Given the description of an element on the screen output the (x, y) to click on. 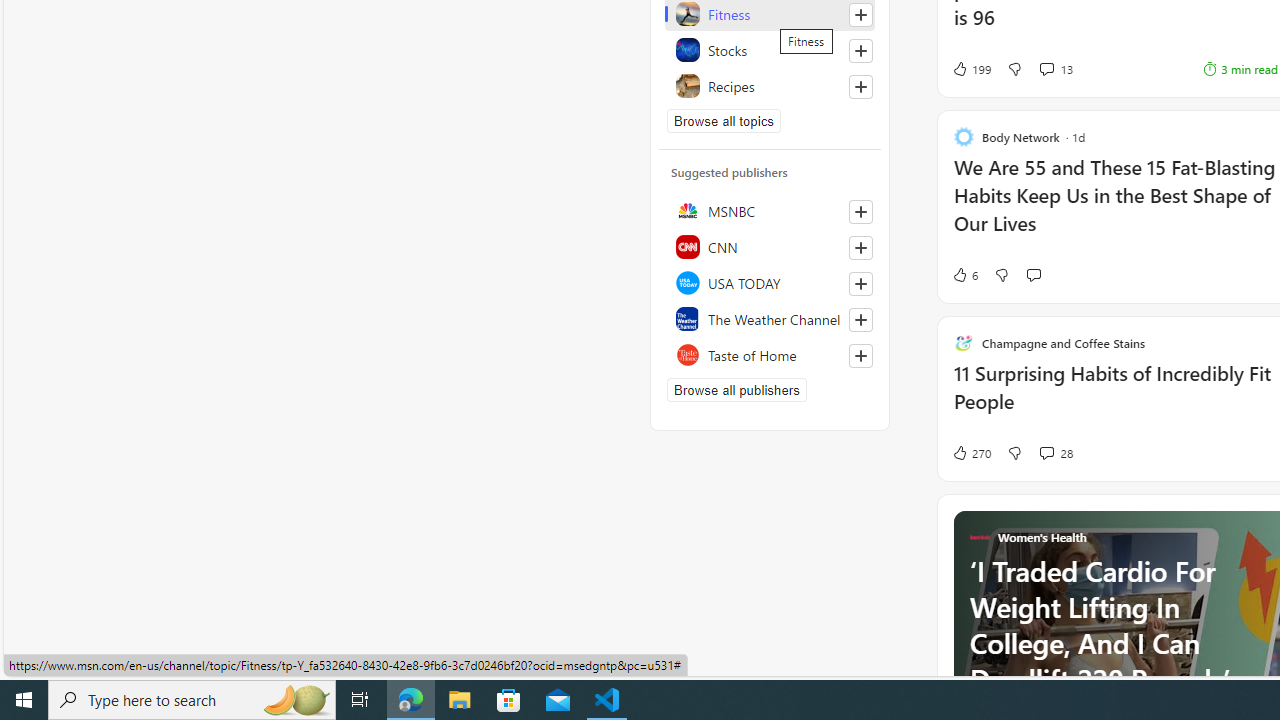
Follow this topic (860, 86)
MSNBC (770, 210)
11 Surprising Habits of Incredibly Fit People (1115, 398)
The Weather Channel (770, 318)
Follow this topic (860, 86)
Follow this source (860, 355)
Browse all publishers (736, 389)
View comments 13 Comment (1055, 68)
Start the conversation (1033, 274)
USA TODAY (770, 282)
